Given the description of an element on the screen output the (x, y) to click on. 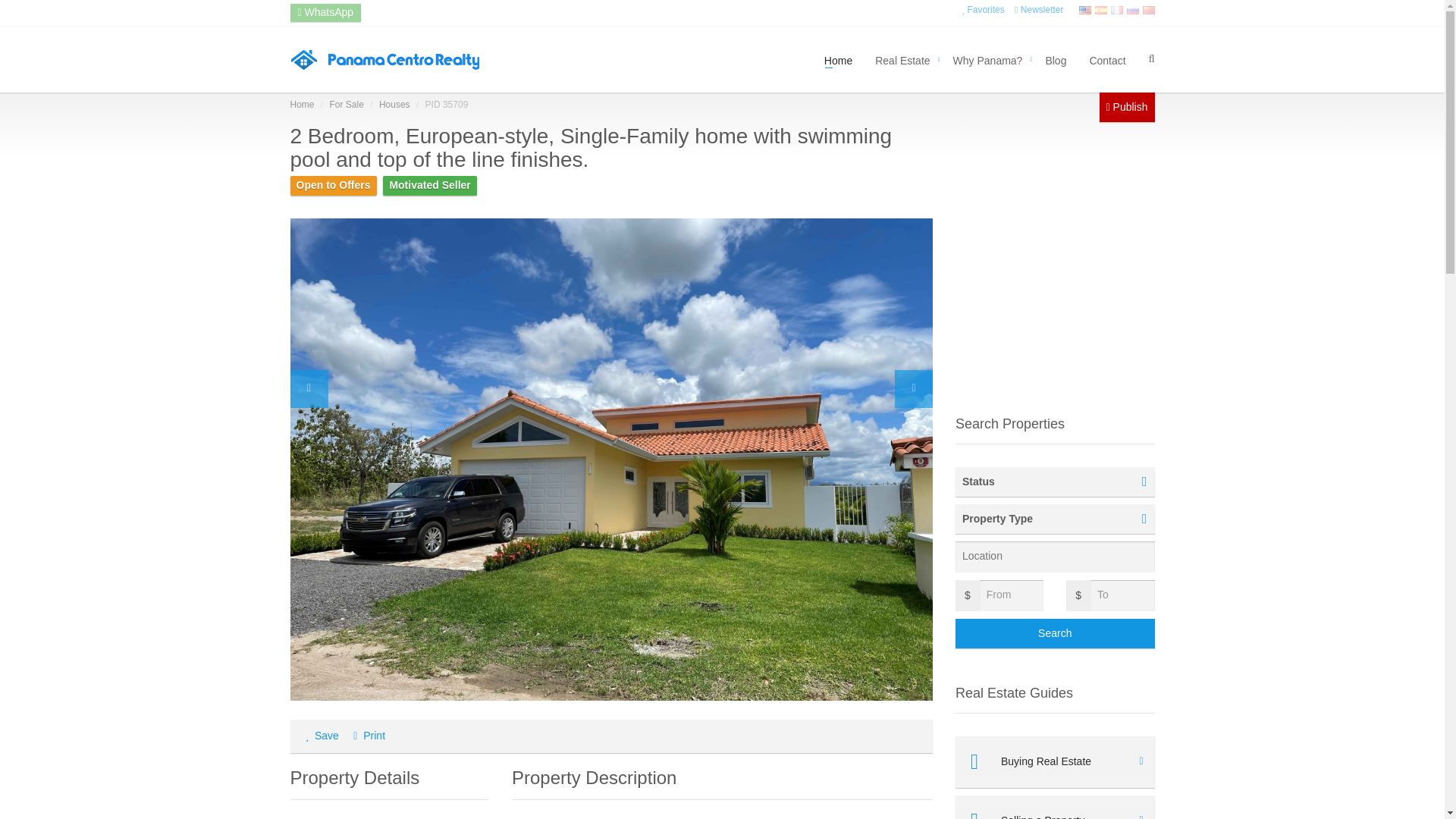
Real Estate (901, 59)
Contact (1107, 59)
Panama Realtor (384, 58)
Favorites (982, 9)
Blog (1055, 59)
Favorites (982, 9)
Newsletter (1038, 9)
WhatsApp (325, 11)
WhatsApp (325, 13)
Newsletter (1038, 9)
Home (837, 59)
Why Panama? (987, 59)
